Given the description of an element on the screen output the (x, y) to click on. 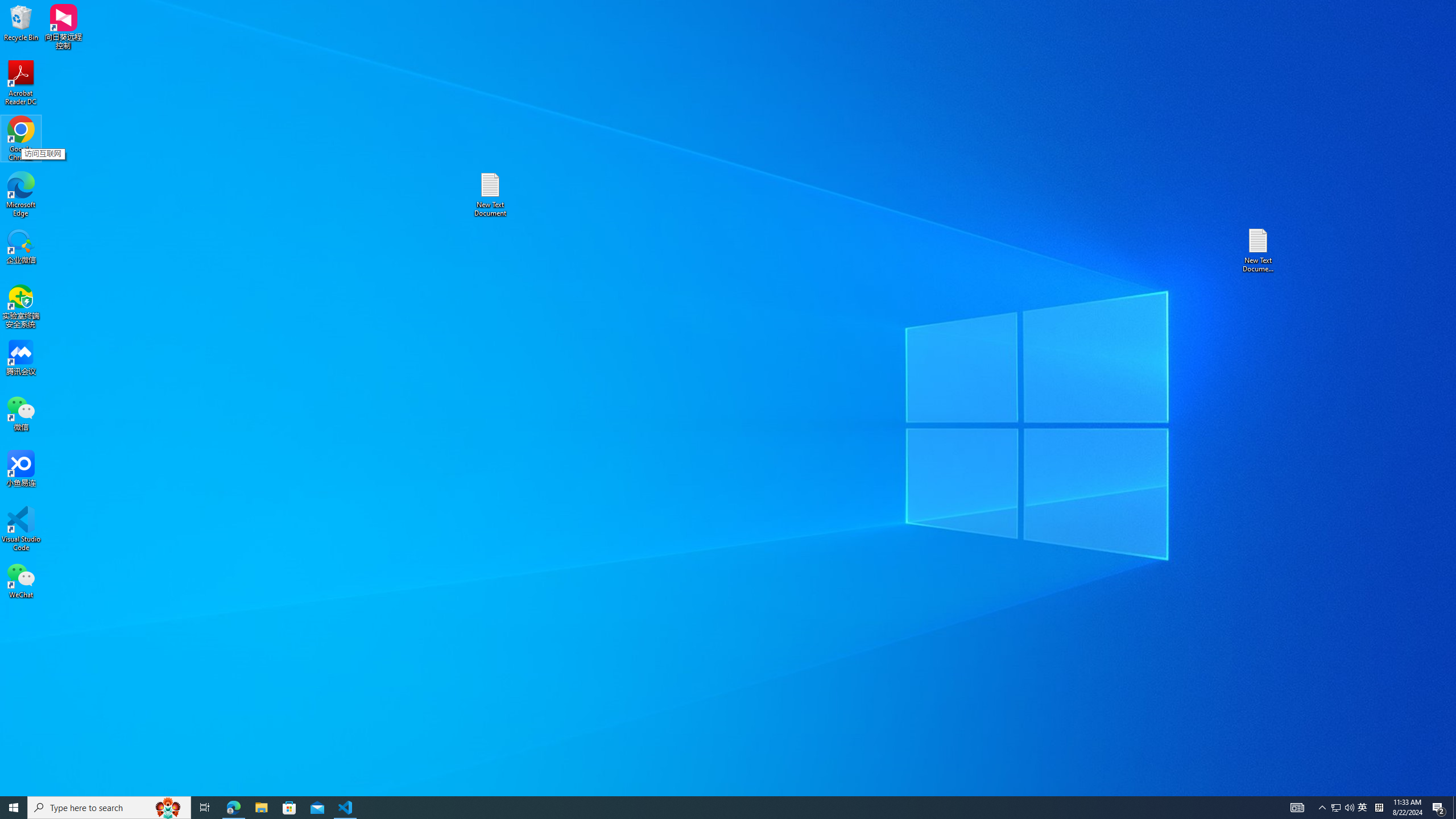
Visual Studio Code (21, 528)
Google Chrome (21, 138)
